Given the description of an element on the screen output the (x, y) to click on. 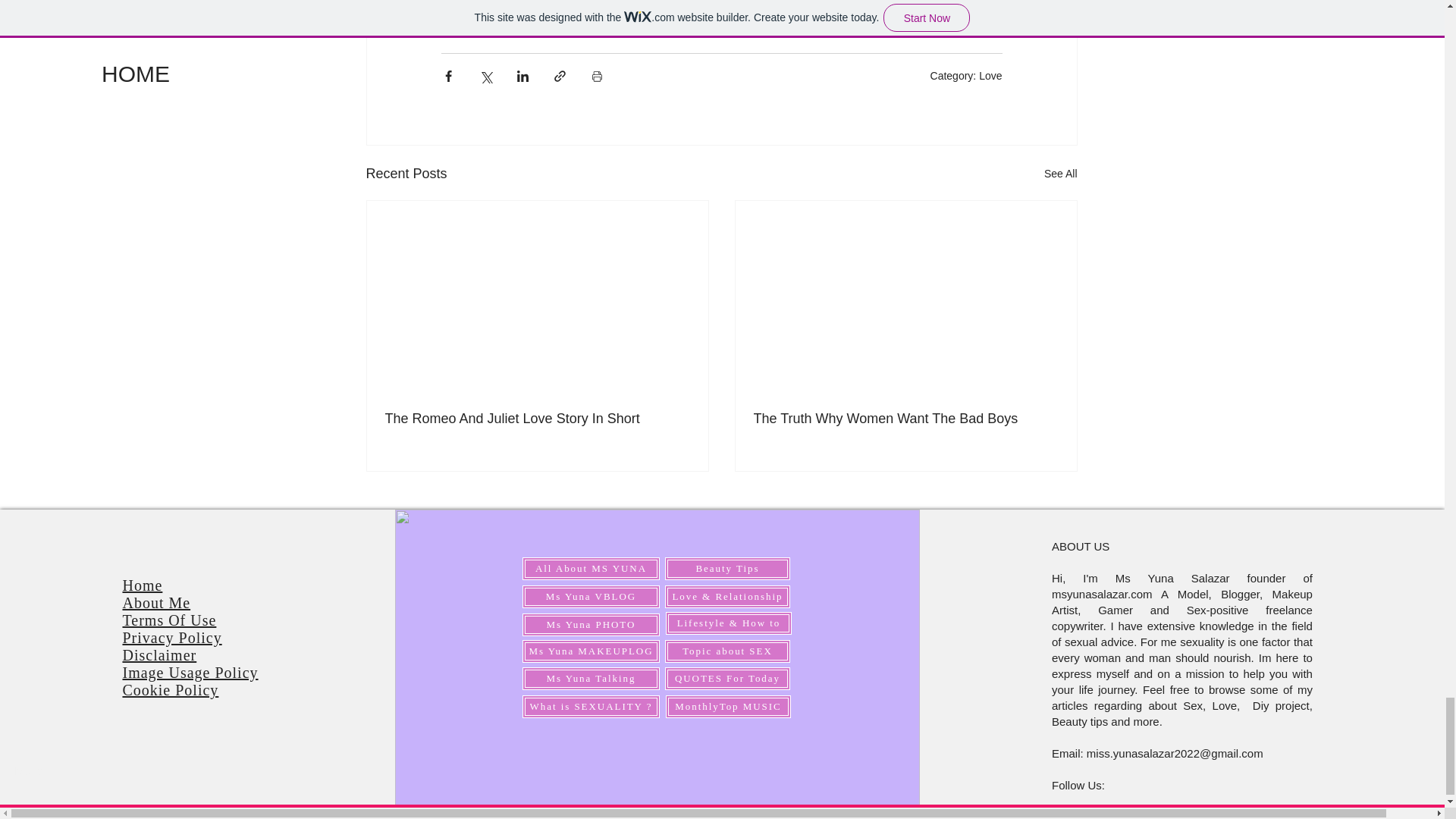
Ms Yuna Talking (590, 678)
MonthlyTop MUSIC (727, 706)
Ms Yuna VBLOG (590, 596)
About Me (156, 602)
Cookie Policy (170, 689)
Topic about SEX (727, 650)
The Truth Why Women Want The Bad Boys (906, 418)
Category: Love (966, 75)
What is SEXUALITY ? (590, 706)
Ms Yuna MAKEUPLOG (590, 650)
Disclaimer (159, 655)
Ms Yuna PHOTO (590, 624)
See All (1060, 173)
All About MS YUNA (590, 568)
Home (141, 585)
